Given the description of an element on the screen output the (x, y) to click on. 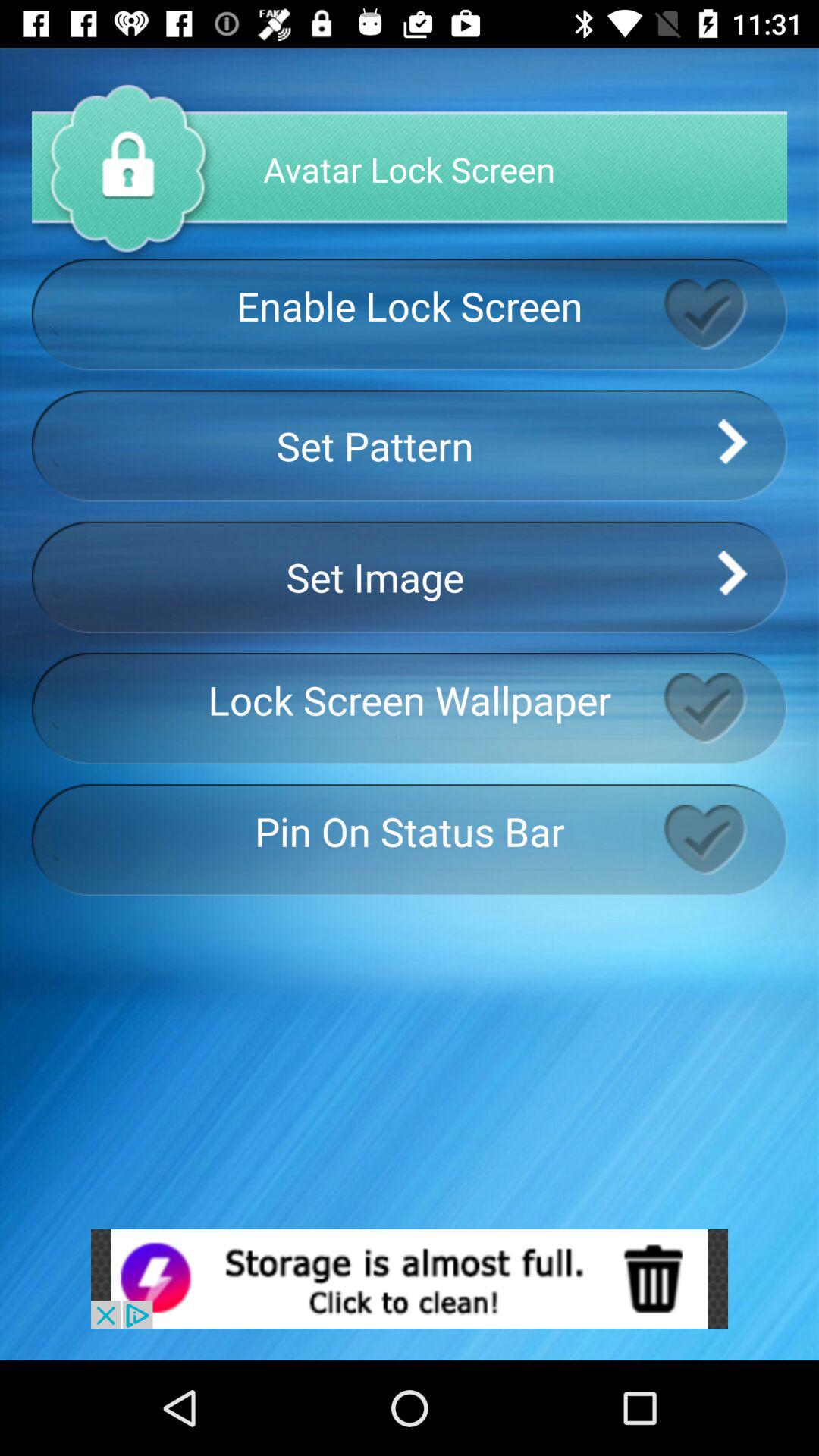
toggle lock screen wallpaper option (725, 708)
